Given the description of an element on the screen output the (x, y) to click on. 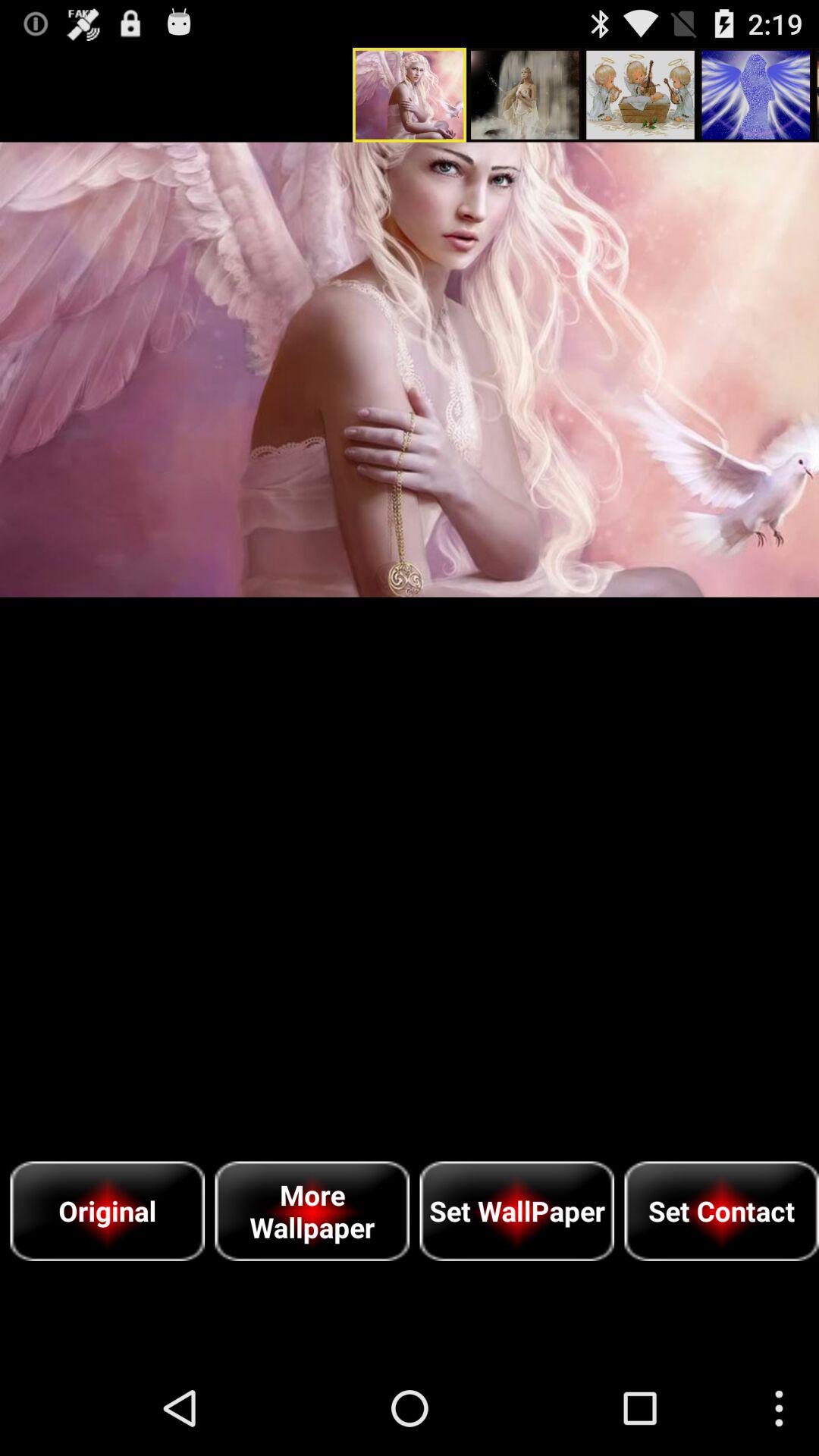
press item to the right of set wallpaper (721, 1210)
